Given the description of an element on the screen output the (x, y) to click on. 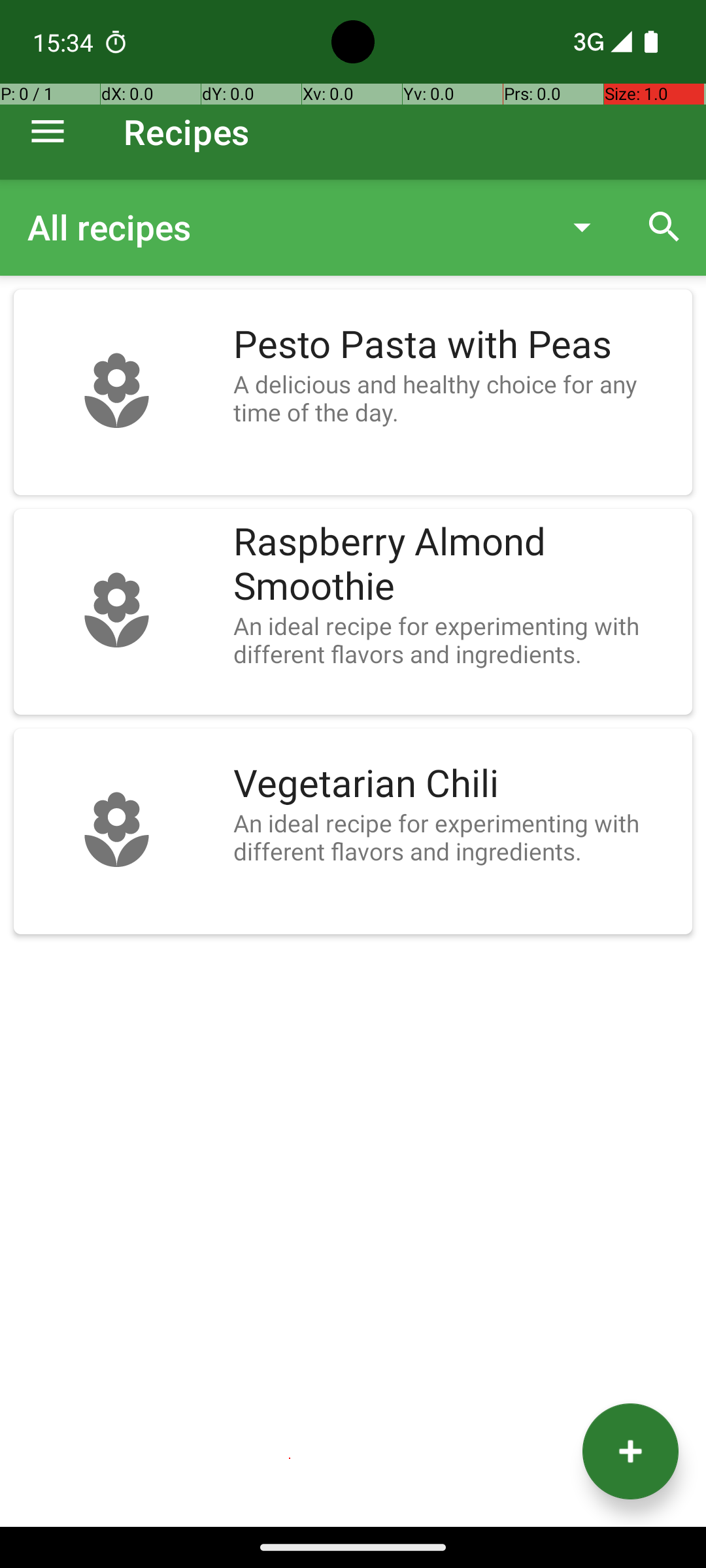
Raspberry Almond Smoothie Element type: android.widget.TextView (455, 564)
Vegetarian Chili Element type: android.widget.TextView (455, 783)
